Given the description of an element on the screen output the (x, y) to click on. 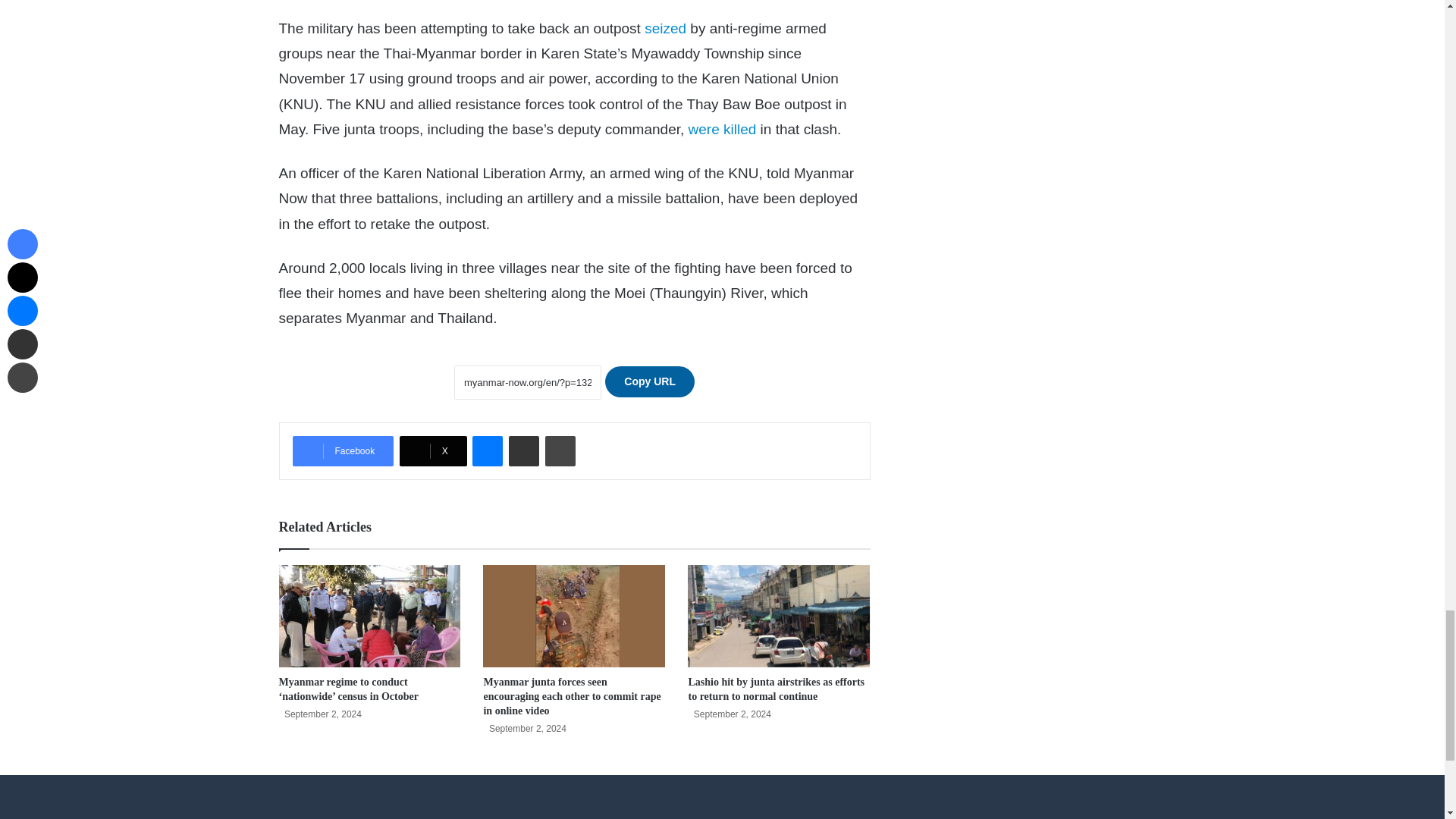
X (432, 450)
Messenger (486, 450)
Facebook (343, 450)
seized (665, 28)
Print (559, 450)
Facebook (343, 450)
Copy URL (649, 381)
Messenger (486, 450)
Share via Email (523, 450)
Share via Email (523, 450)
